Given the description of an element on the screen output the (x, y) to click on. 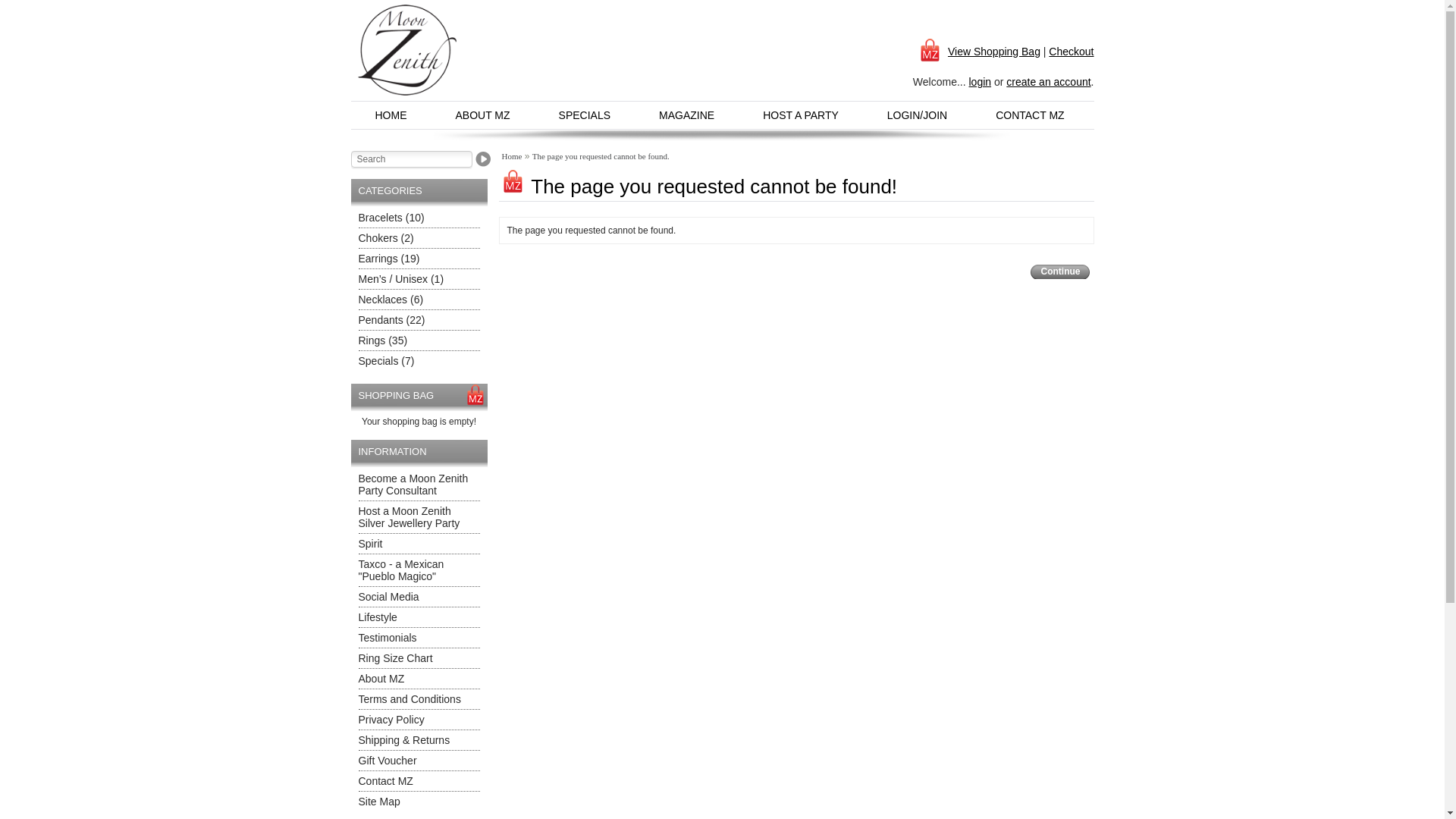
Terms and Conditions Element type: text (408, 699)
Lifestyle Element type: text (376, 617)
HOME Element type: text (390, 114)
The page you requested cannot be found. Element type: text (600, 155)
MAGAZINE Element type: text (686, 114)
Contact MZ Element type: text (384, 781)
Testimonials Element type: text (386, 637)
About MZ Element type: text (380, 678)
View Shopping Bag Element type: text (978, 51)
Pendants (22) Element type: text (390, 319)
Continue Element type: text (1058, 271)
Specials (7) Element type: text (385, 360)
Social Media Element type: text (387, 596)
create an account Element type: text (1048, 81)
Ring Size Chart Element type: text (394, 658)
Spirit Element type: text (369, 543)
Chokers (2) Element type: text (385, 238)
Checkout Element type: text (1070, 51)
Moon Zenith Element type: hover (407, 49)
LOGIN/JOIN Element type: text (916, 114)
Rings (35) Element type: text (382, 340)
Advertisement Element type: hover (685, 56)
ABOUT MZ Element type: text (481, 114)
CONTACT MZ Element type: text (1028, 114)
HOST A PARTY Element type: text (800, 114)
Become a Moon Zenith Party Consultant Element type: text (412, 484)
login Element type: text (979, 81)
Host a Moon Zenith Silver Jewellery Party Element type: text (408, 517)
Necklaces (6) Element type: text (390, 299)
Bracelets (10) Element type: text (390, 217)
Home Element type: text (512, 155)
Site Map Element type: text (378, 801)
Privacy Policy Element type: text (390, 719)
SPECIALS Element type: text (584, 114)
Gift Voucher Element type: text (386, 760)
Taxco - a Mexican "Pueblo Magico" Element type: text (400, 570)
Shipping & Returns Element type: text (403, 740)
Earrings (19) Element type: text (388, 258)
